Given the description of an element on the screen output the (x, y) to click on. 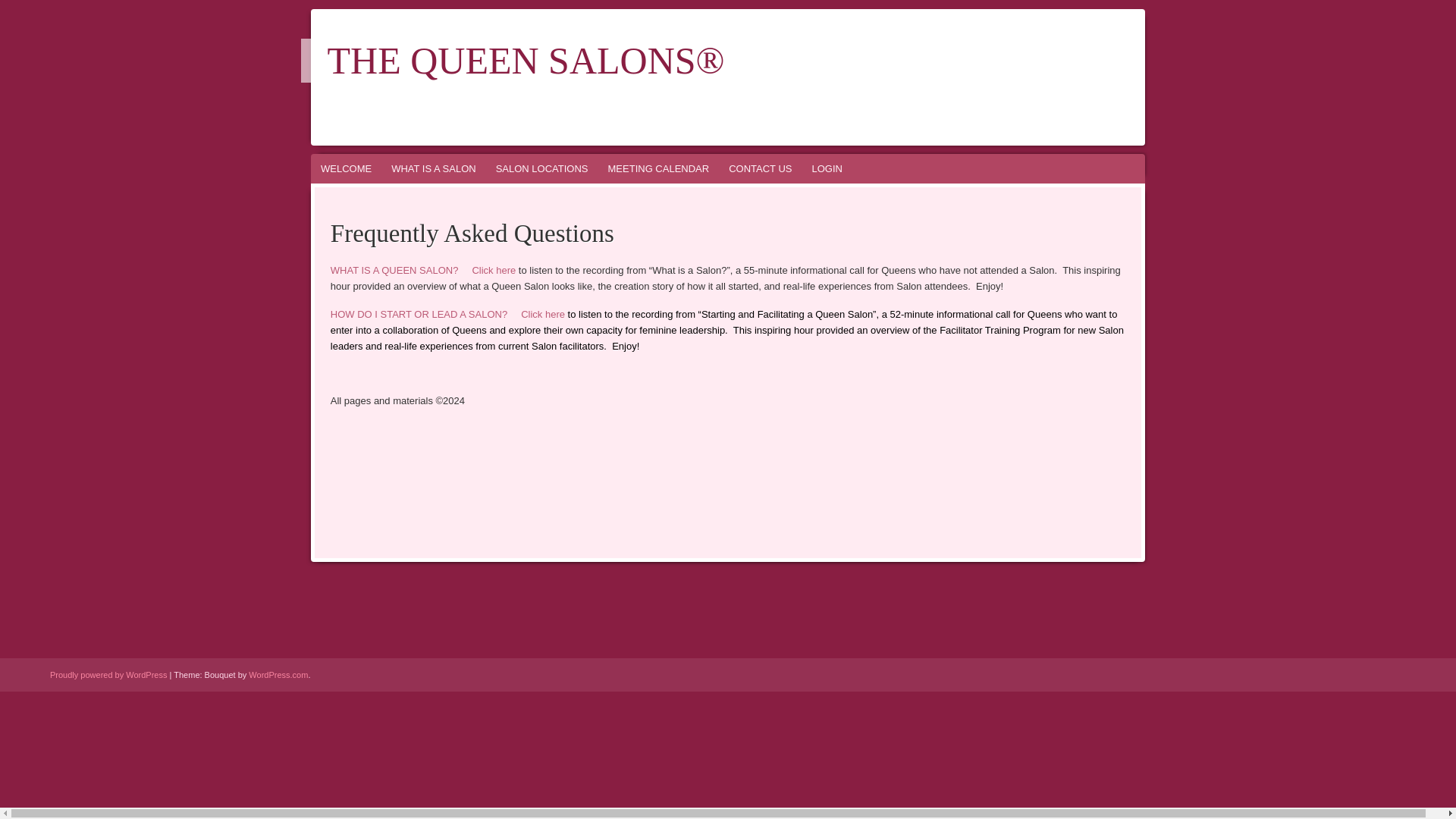
WHAT IS A SALON (433, 168)
Click here (493, 270)
MEETING CALENDAR (658, 168)
LOGIN (826, 168)
HOW DO I START OR LEAD A SALON? (418, 314)
Proudly powered by WordPress (108, 674)
WELCOME (346, 168)
SALON LOCATIONS (542, 168)
WordPress.com (277, 674)
CONTACT US (760, 168)
